Given the description of an element on the screen output the (x, y) to click on. 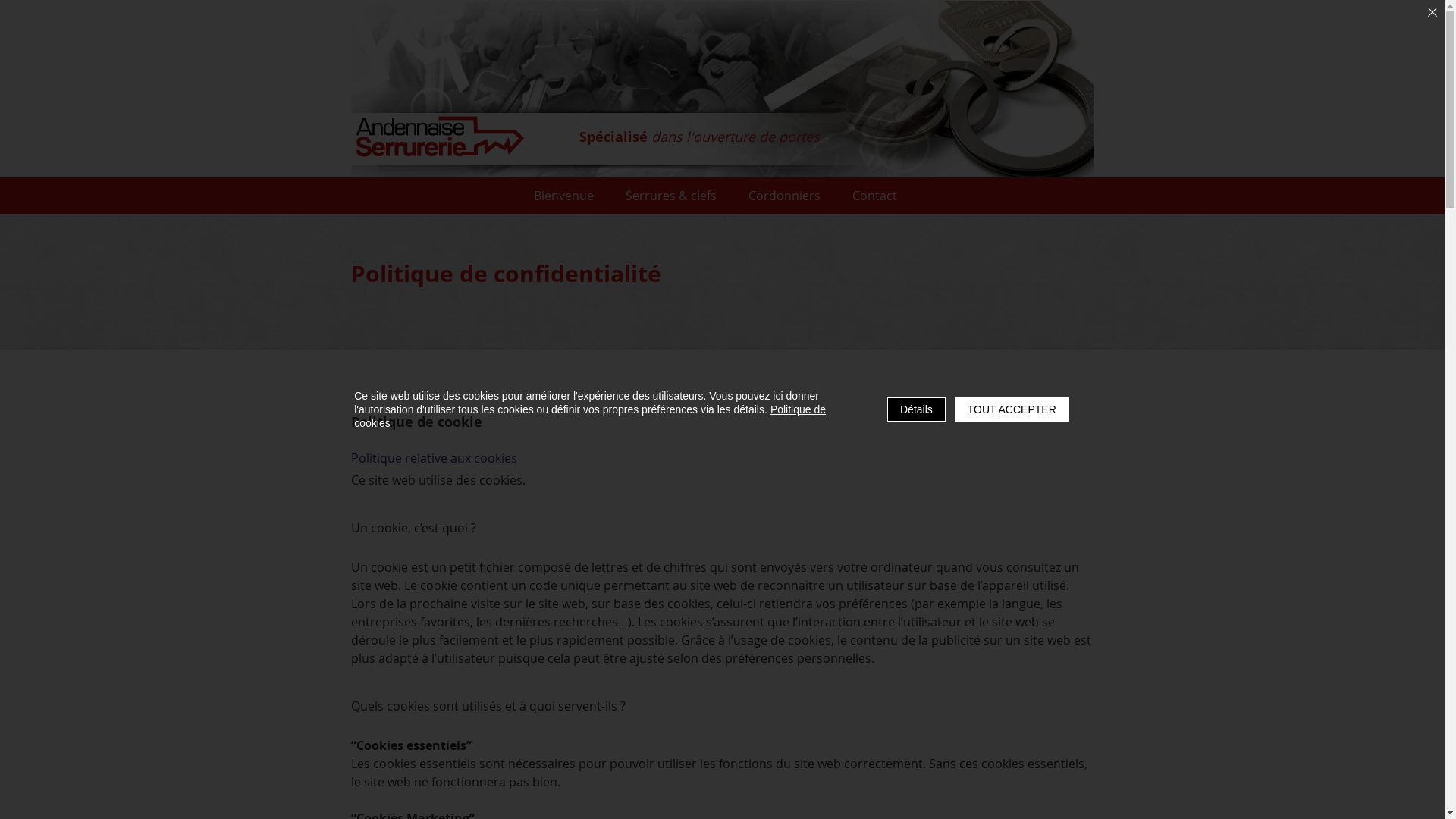
Contact Element type: text (874, 195)
TOUT ACCEPTER Element type: text (1011, 409)
Cordonniers Element type: text (783, 195)
Bienvenue Element type: text (563, 195)
Serrures & clefs Element type: text (670, 195)
Politique de cookies Element type: text (589, 416)
